Given the description of an element on the screen output the (x, y) to click on. 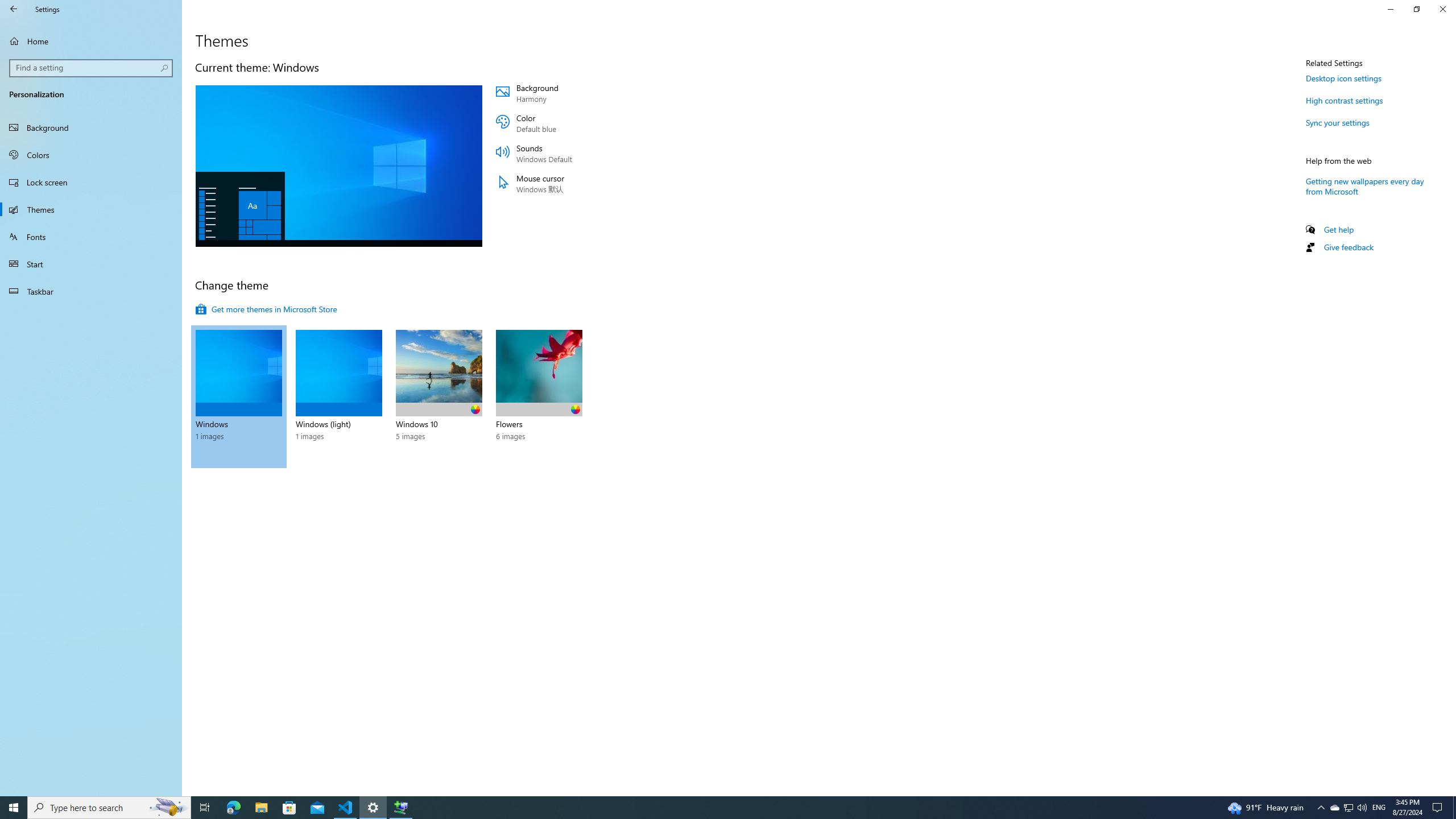
Sync your settings (1338, 122)
Windows 10 5 images (438, 396)
Sounds Windows Default (564, 153)
Fonts (91, 236)
Extensible Wizards Host Process - 1 running window (400, 807)
Home (91, 40)
Background (91, 126)
Colors (91, 154)
Restore Settings (1416, 9)
